Given the description of an element on the screen output the (x, y) to click on. 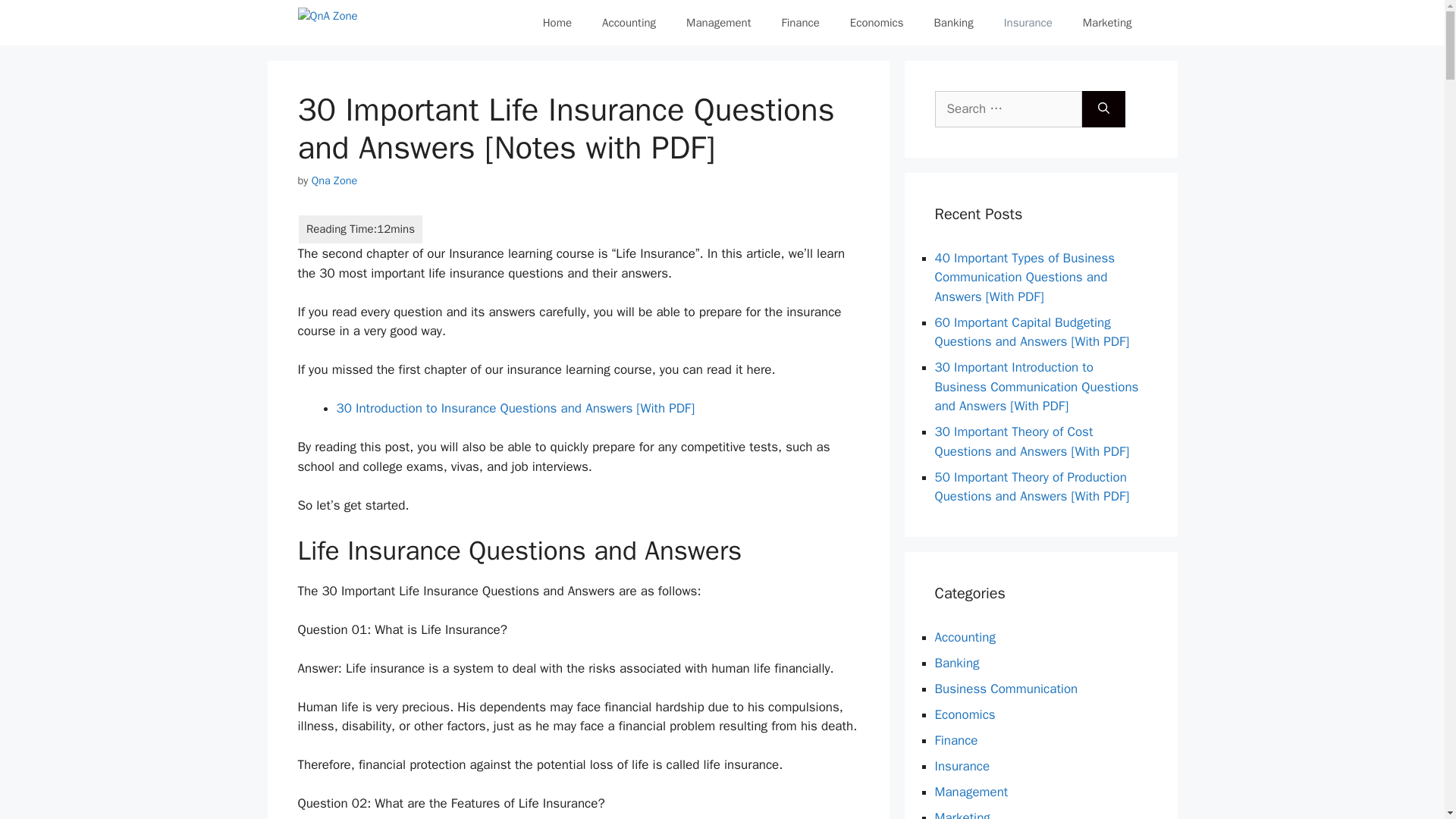
Accounting (628, 22)
Economics (876, 22)
Business Communication (1005, 688)
Insurance (1027, 22)
Accounting (964, 637)
View all posts by Qna Zone (334, 180)
Management (970, 791)
Banking (956, 662)
QnA Zone (326, 22)
Marketing (962, 814)
Finance (799, 22)
Qna Zone (334, 180)
Marketing (1107, 22)
Management (718, 22)
Insurance (962, 765)
